Given the description of an element on the screen output the (x, y) to click on. 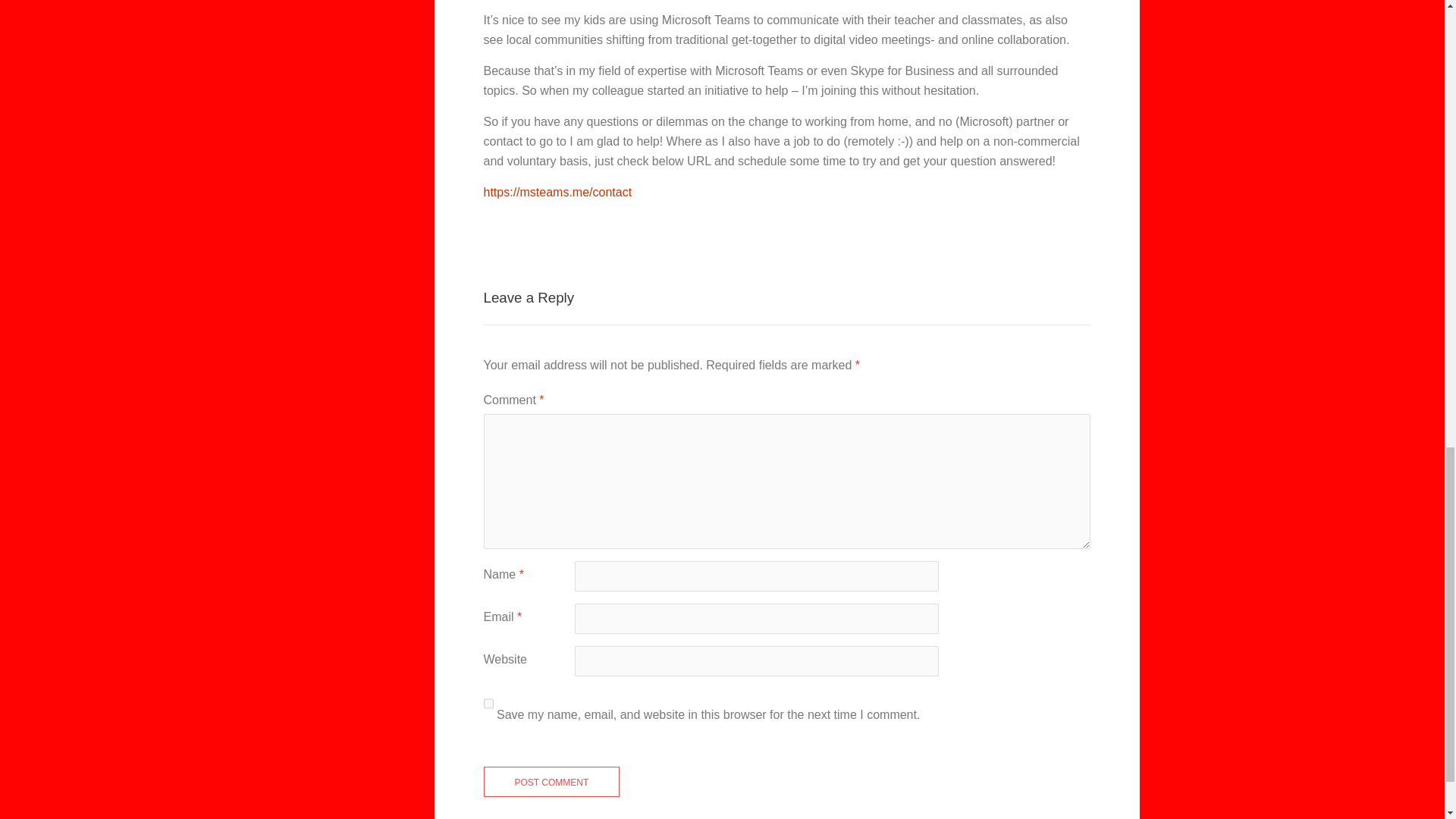
Post Comment (551, 781)
Post Comment (551, 781)
yes (488, 703)
